Given the description of an element on the screen output the (x, y) to click on. 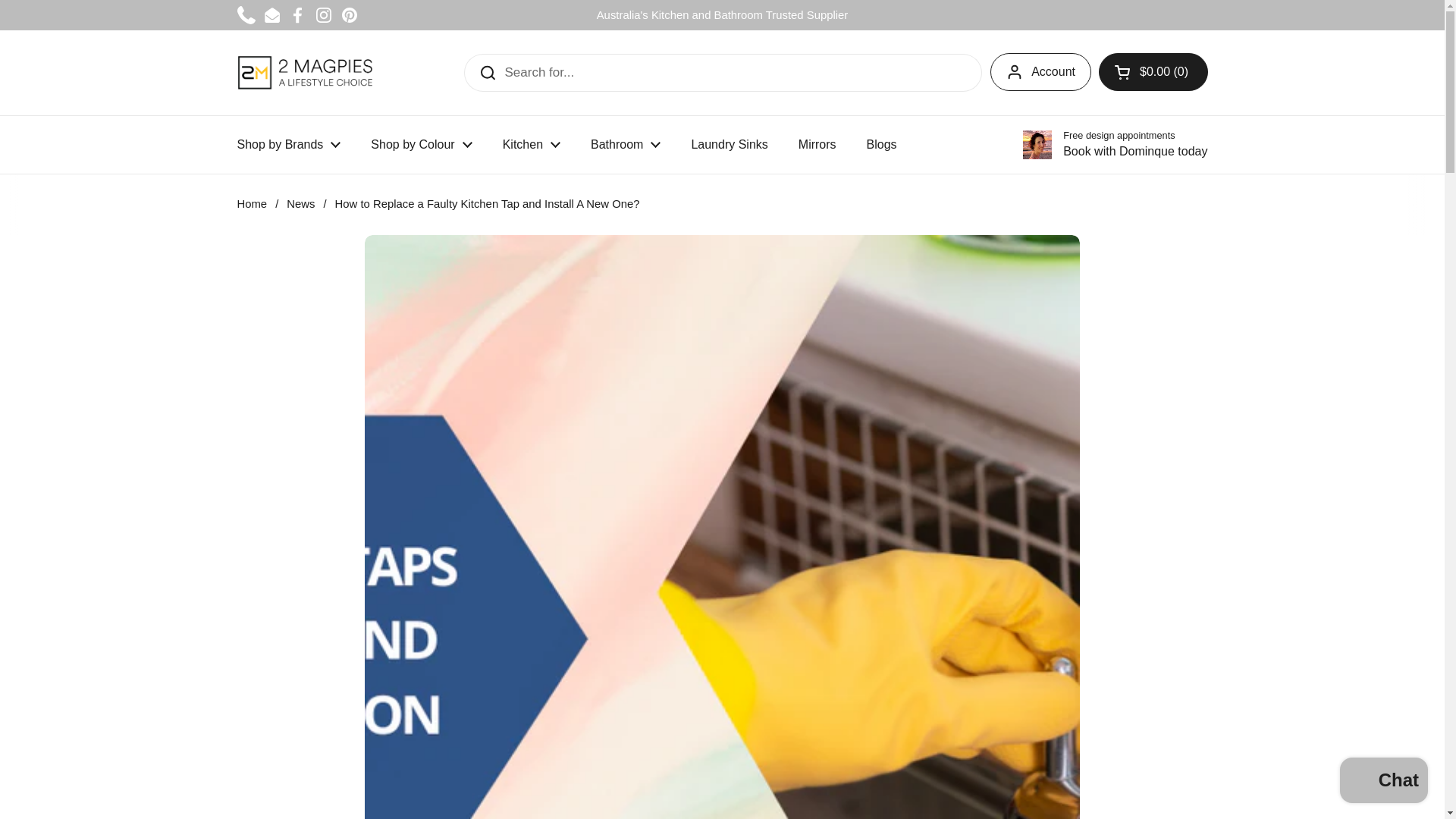
Shop by Brands (288, 144)
Pinterest (348, 14)
Instagram (322, 14)
Shop by Colour (420, 144)
Shop by Brands (288, 144)
Email (271, 14)
Open cart (1153, 71)
2Magpies (303, 72)
Facebook (296, 14)
Shop by Colour (420, 144)
